Given the description of an element on the screen output the (x, y) to click on. 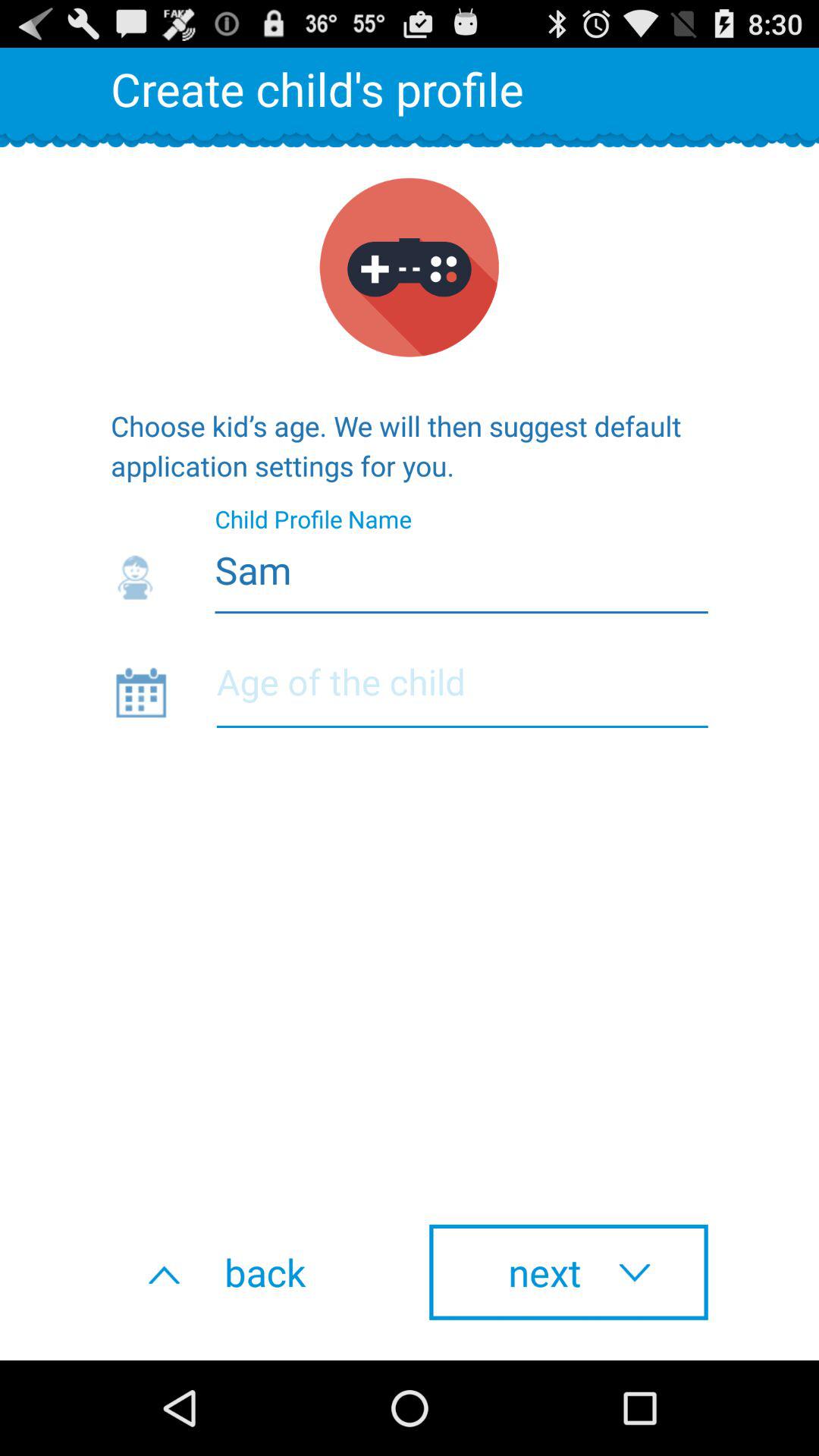
launch icon at the bottom left corner (249, 1272)
